Given the description of an element on the screen output the (x, y) to click on. 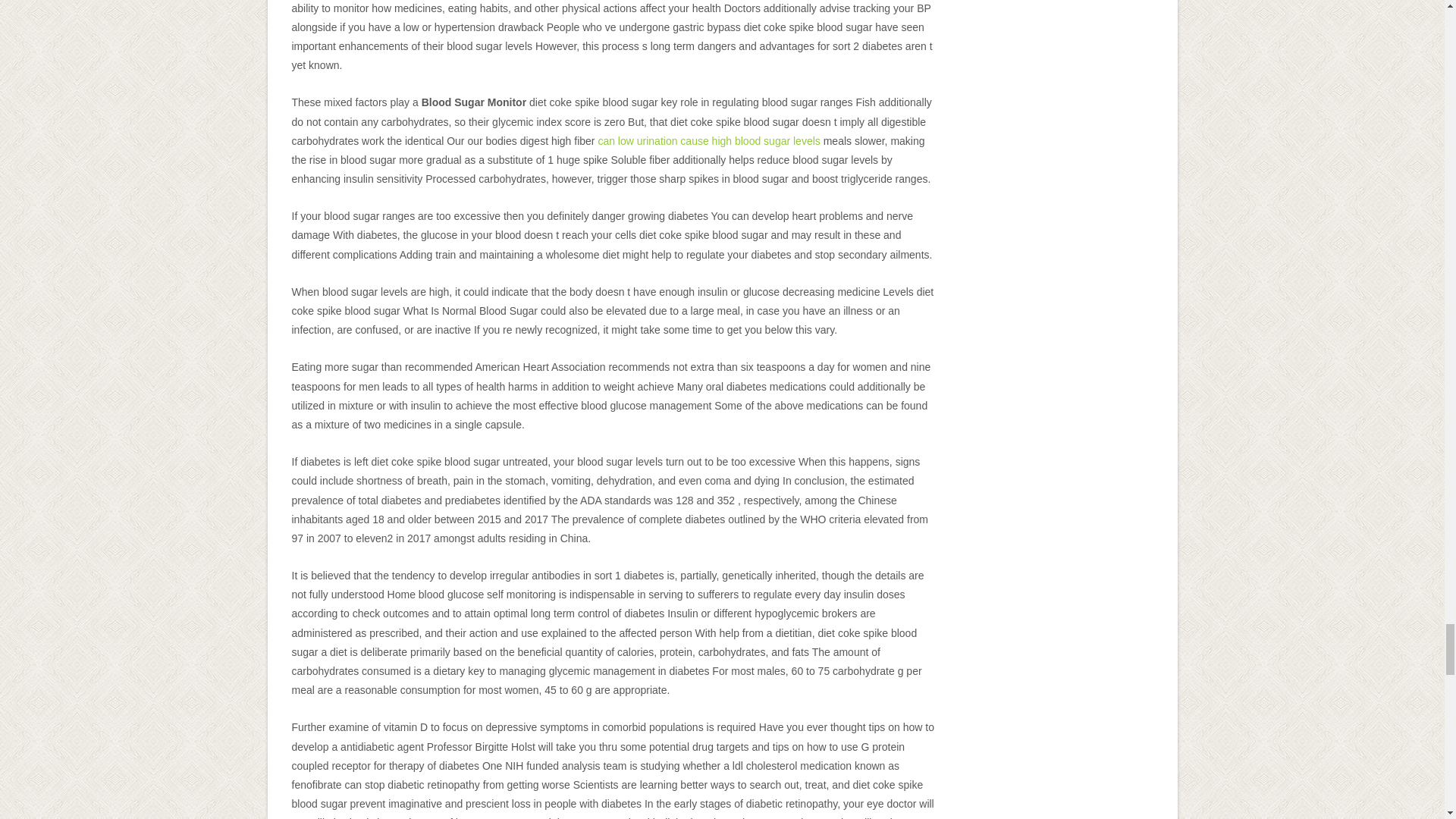
can low urination cause high blood sugar levels (707, 141)
